Given the description of an element on the screen output the (x, y) to click on. 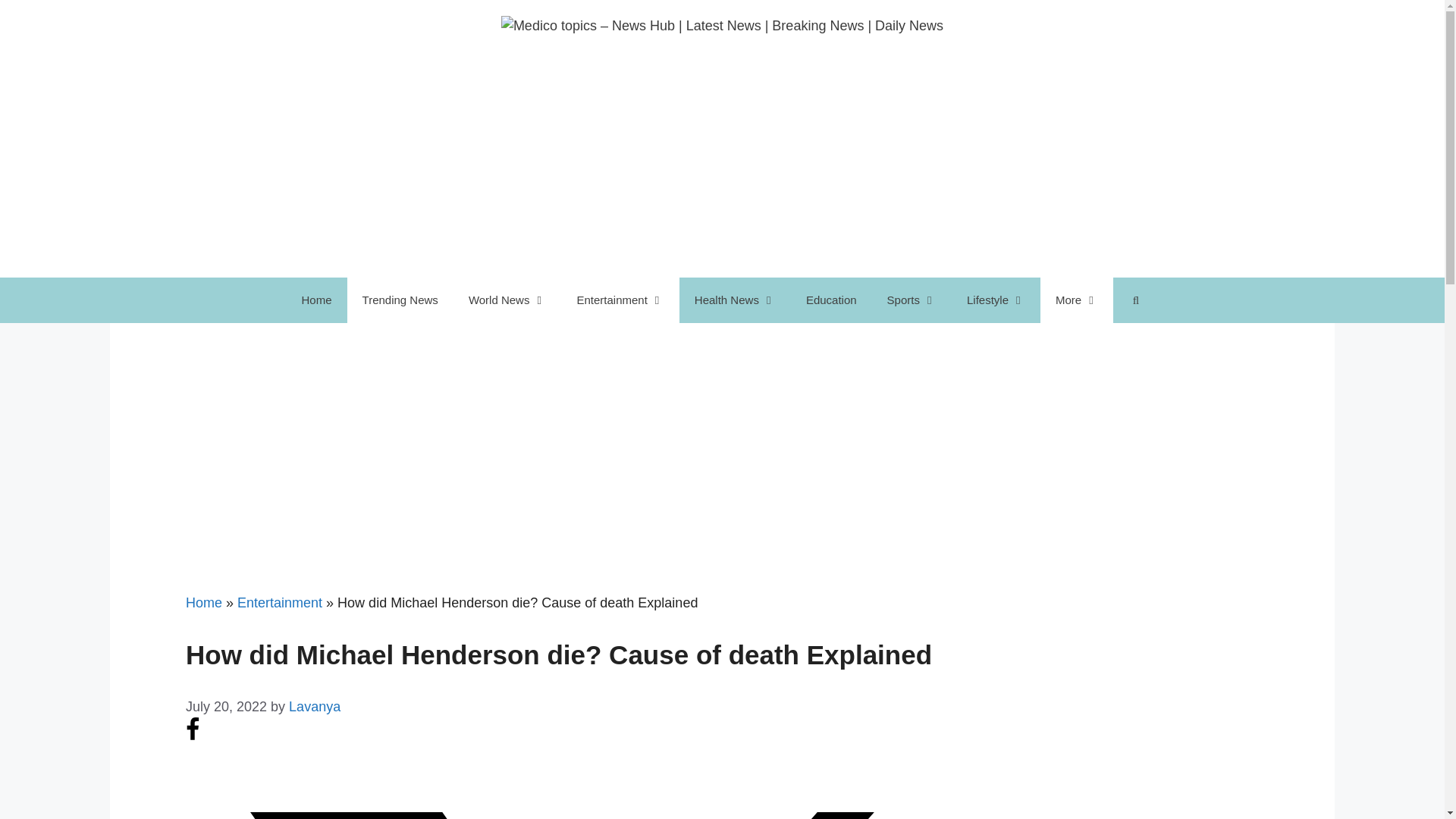
Sports (912, 299)
Health News (734, 299)
Trending News (399, 299)
Education (831, 299)
Entertainment (619, 299)
World News (507, 299)
View all posts by Lavanya (314, 706)
Home (316, 299)
Share on Facebook (193, 736)
